Given the description of an element on the screen output the (x, y) to click on. 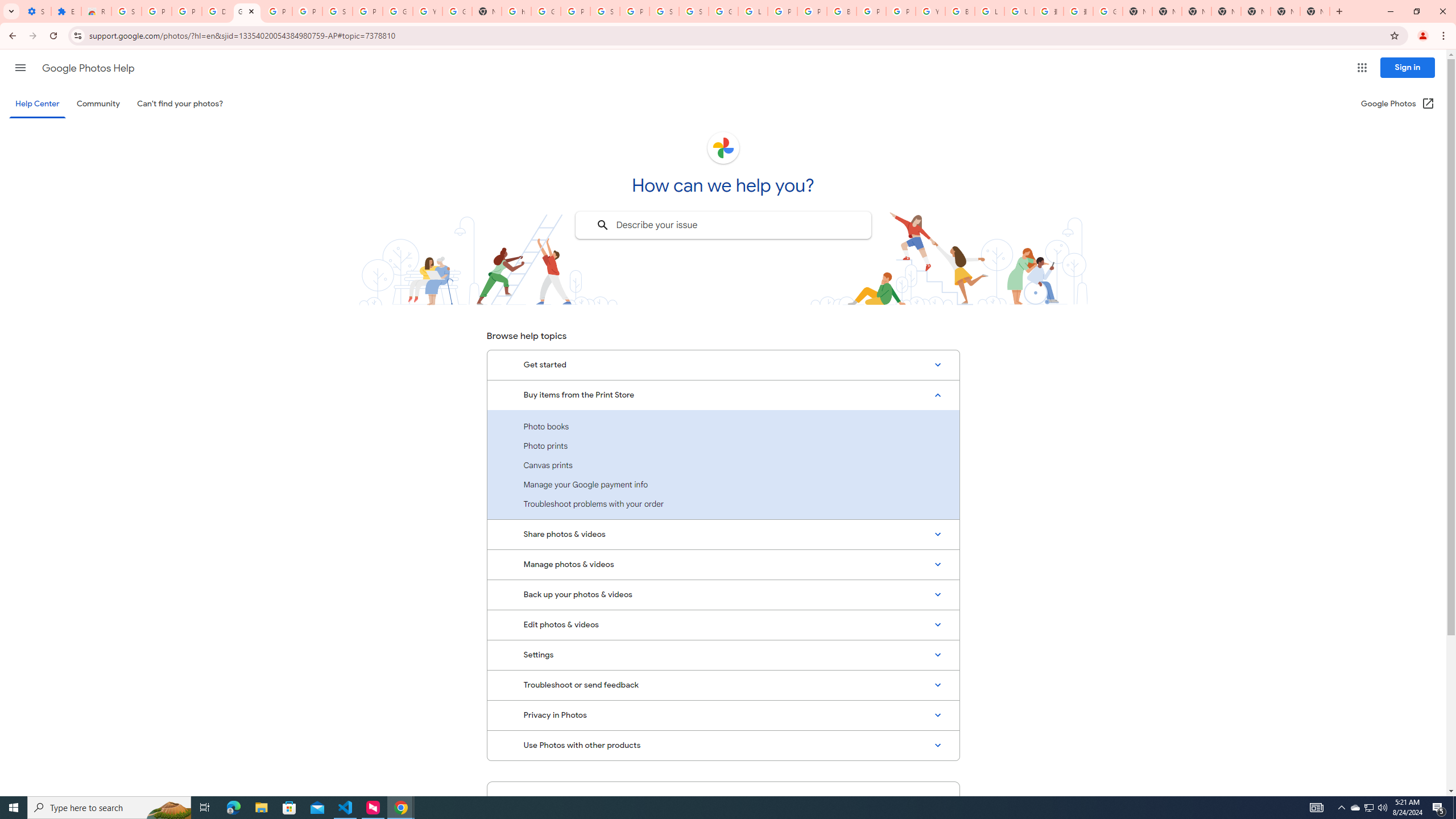
YouTube (426, 11)
Sign in - Google Accounts (693, 11)
Google Account (397, 11)
